Given the description of an element on the screen output the (x, y) to click on. 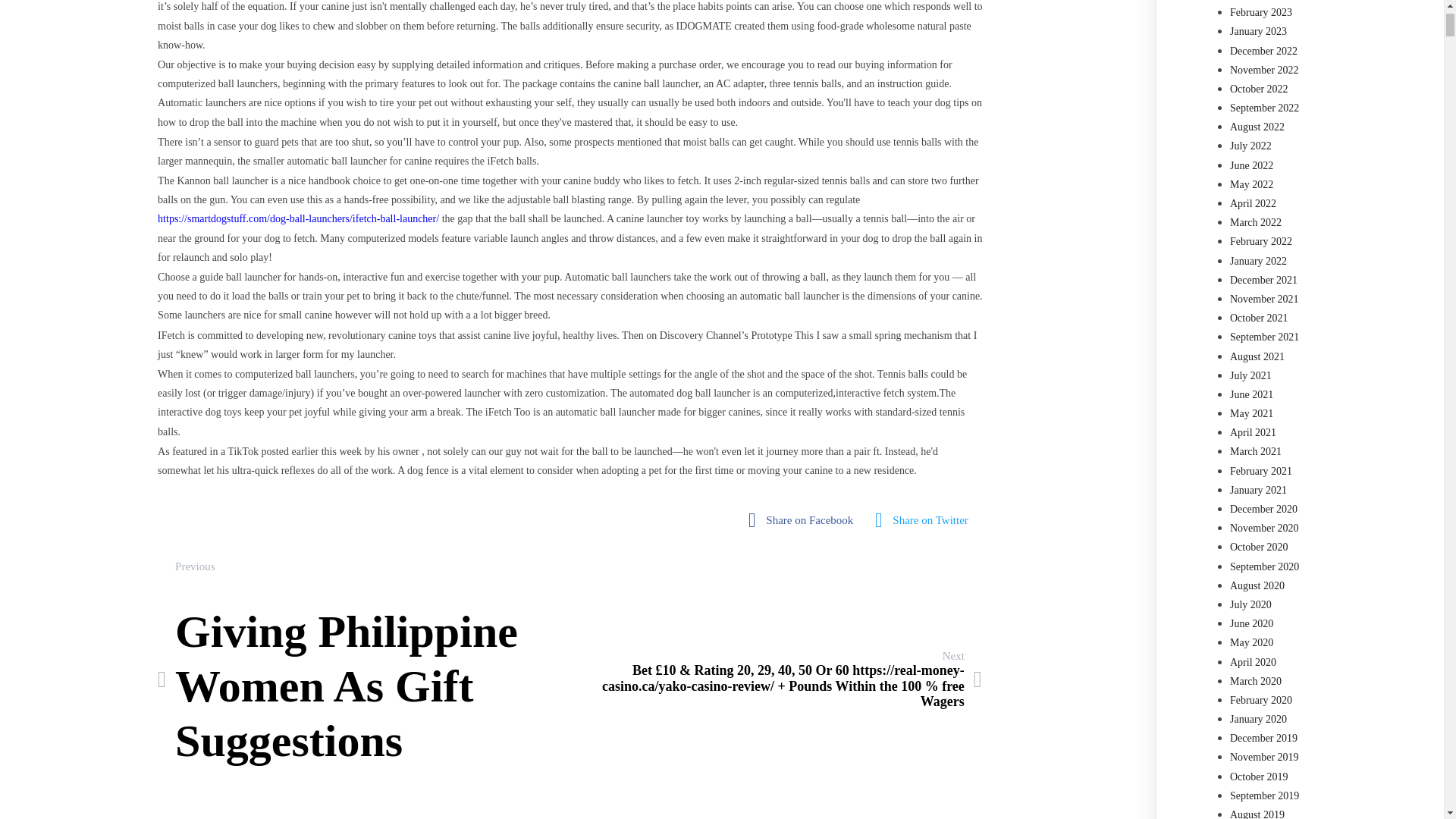
fab fa-facebook-square (804, 519)
February 2023 (1261, 12)
November 2022 (1264, 70)
fab fa-twitter-square (925, 519)
December 2022 (1263, 50)
Share on Facebook (804, 519)
October 2022 (363, 679)
January 2023 (1259, 89)
Share on Twitter (1258, 30)
